Given the description of an element on the screen output the (x, y) to click on. 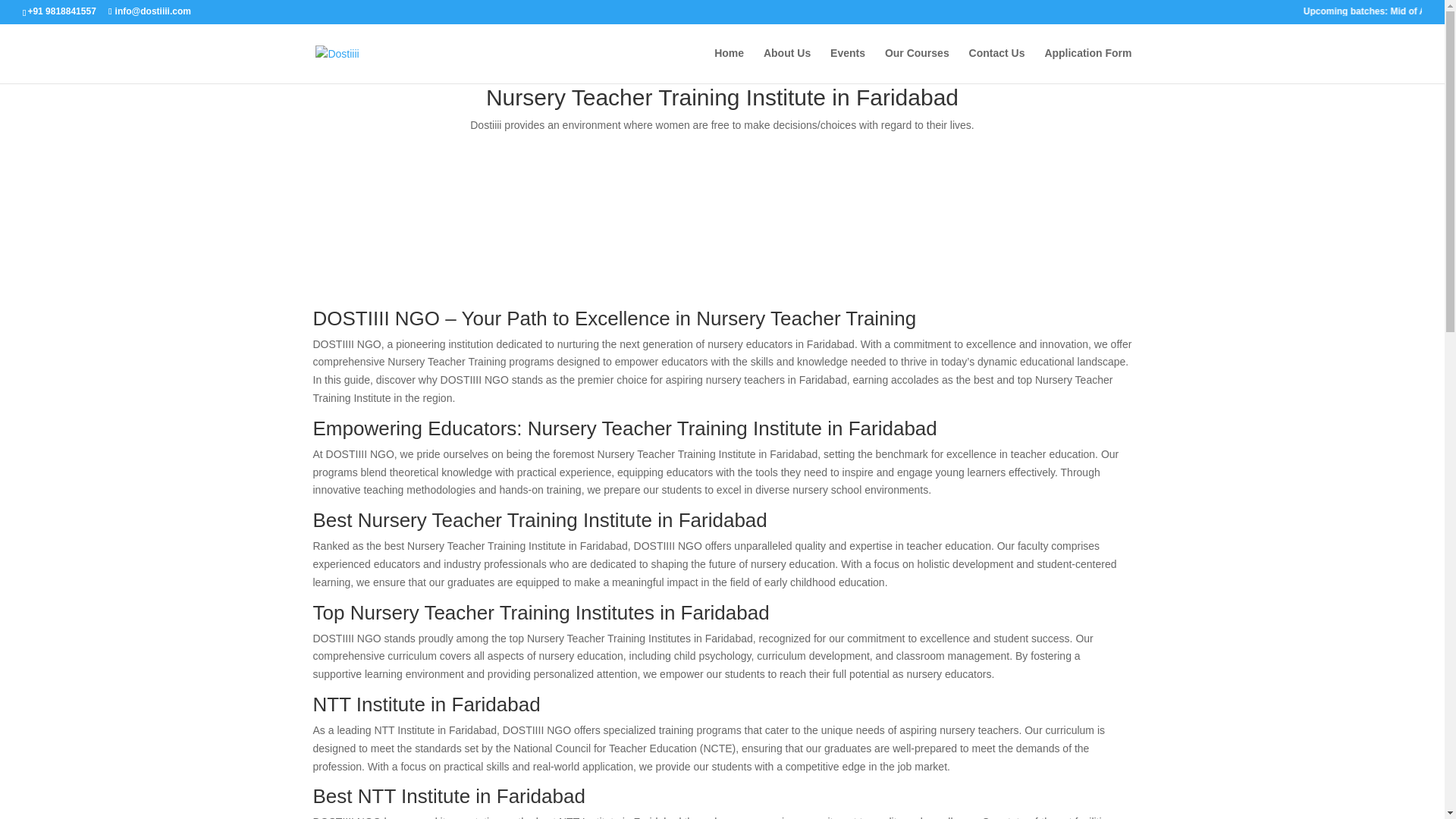
Events (846, 65)
Upcoming batches: Mid of August (1348, 15)
Application Form (1087, 65)
Our Courses (917, 65)
About Us (786, 65)
Contact Us (997, 65)
